Given the description of an element on the screen output the (x, y) to click on. 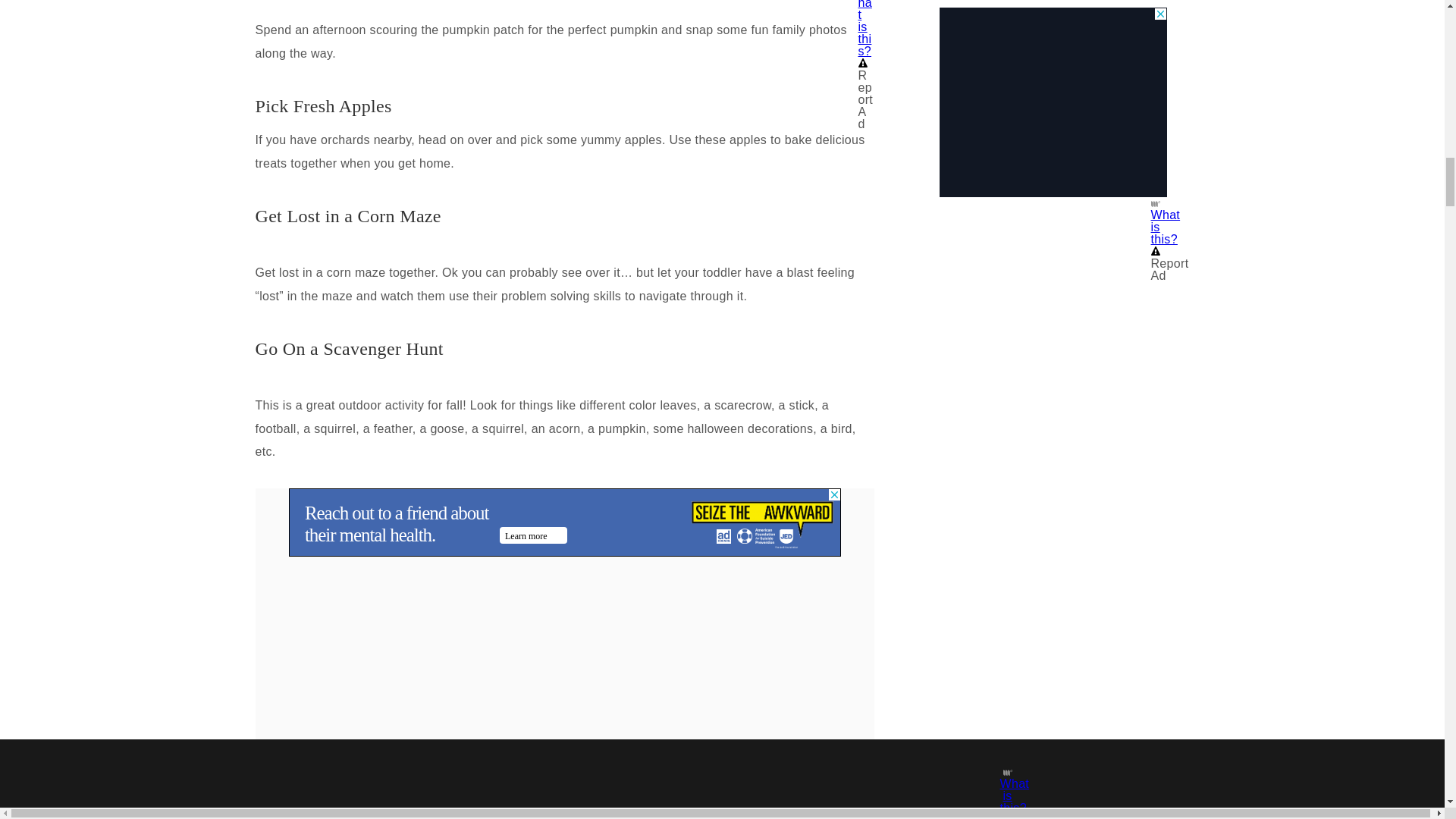
3rd party ad content (564, 522)
